Given the description of an element on the screen output the (x, y) to click on. 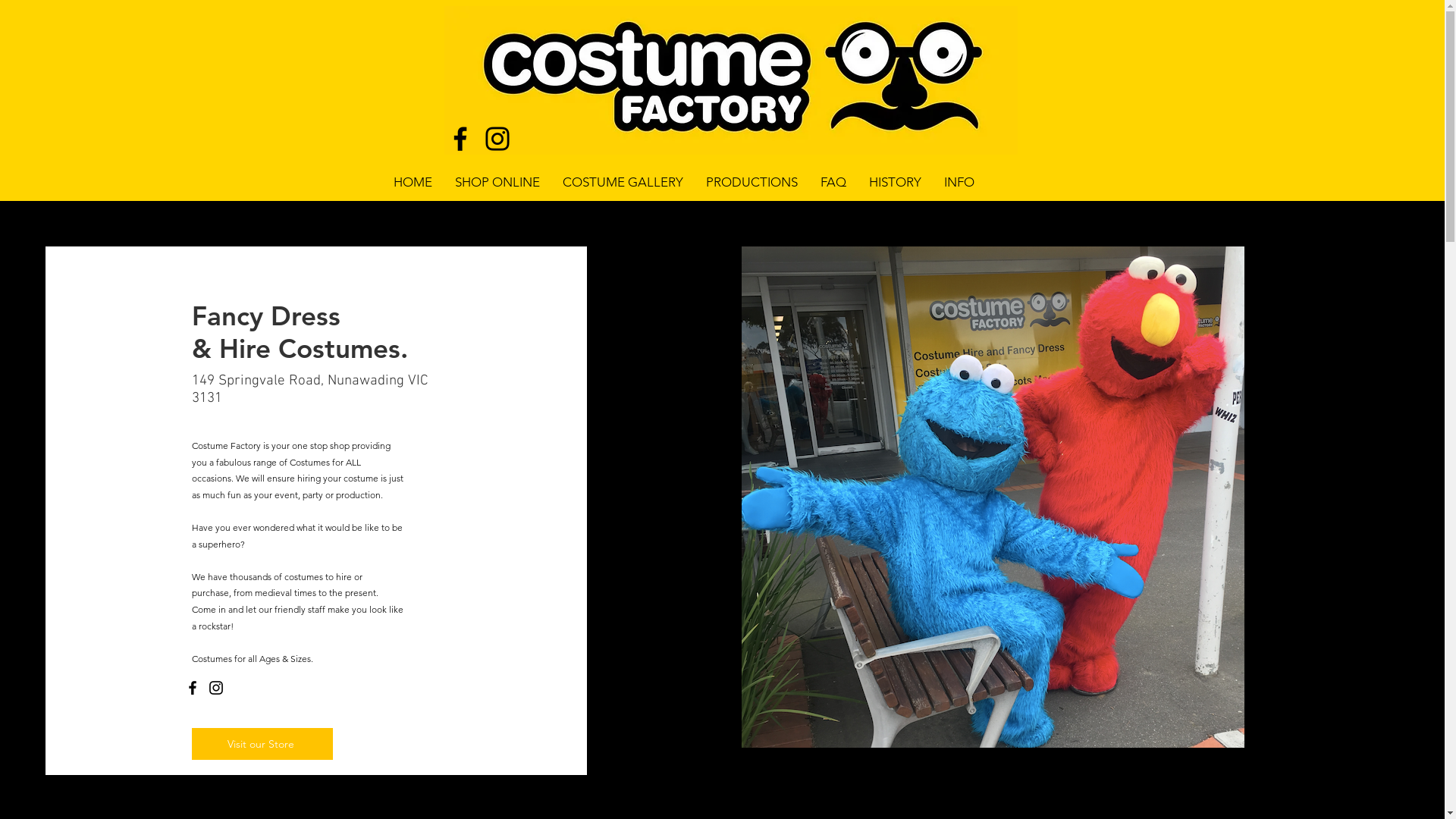
PRODUCTIONS Element type: text (751, 181)
Visit our Store Element type: text (261, 743)
INFO Element type: text (958, 181)
HISTORY Element type: text (893, 181)
HOME Element type: text (412, 181)
COSTUME GALLERY Element type: text (621, 181)
SHOP ONLINE Element type: text (496, 181)
FAQ Element type: text (832, 181)
